Given the description of an element on the screen output the (x, y) to click on. 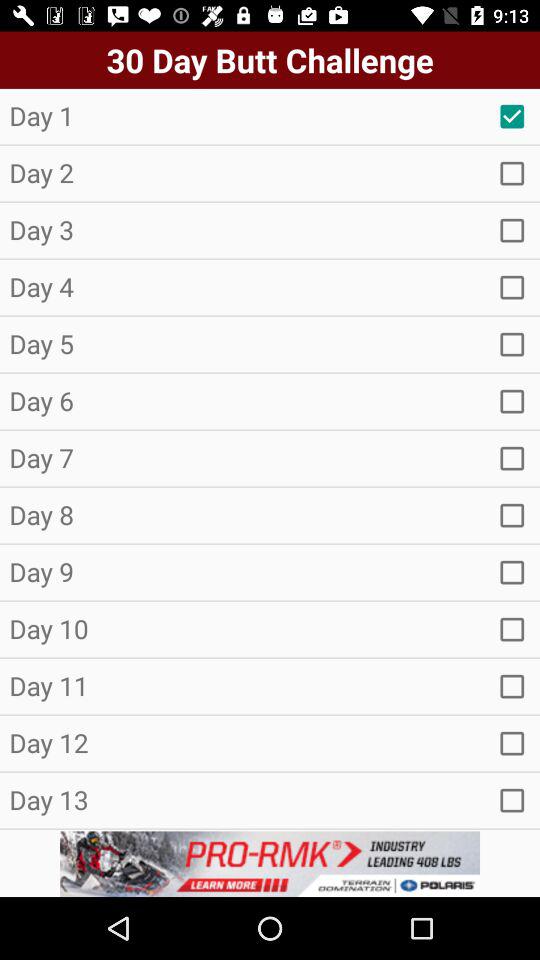
selecti button (512, 629)
